Given the description of an element on the screen output the (x, y) to click on. 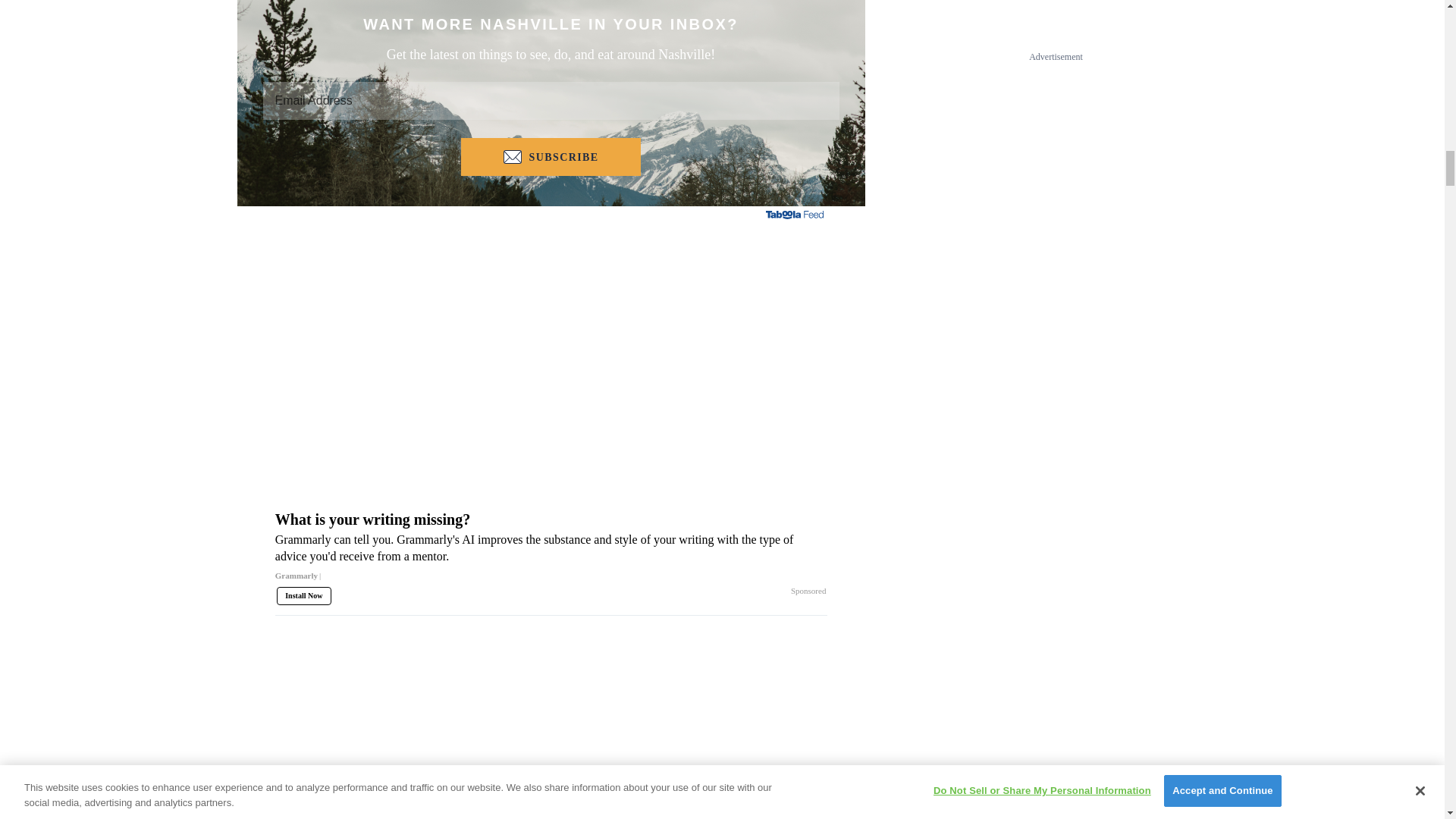
Write Better and Faster With This Desktop App (409, 803)
Write Better and Faster With This Desktop App (409, 706)
What is your writing missing? (551, 552)
